Given the description of an element on the screen output the (x, y) to click on. 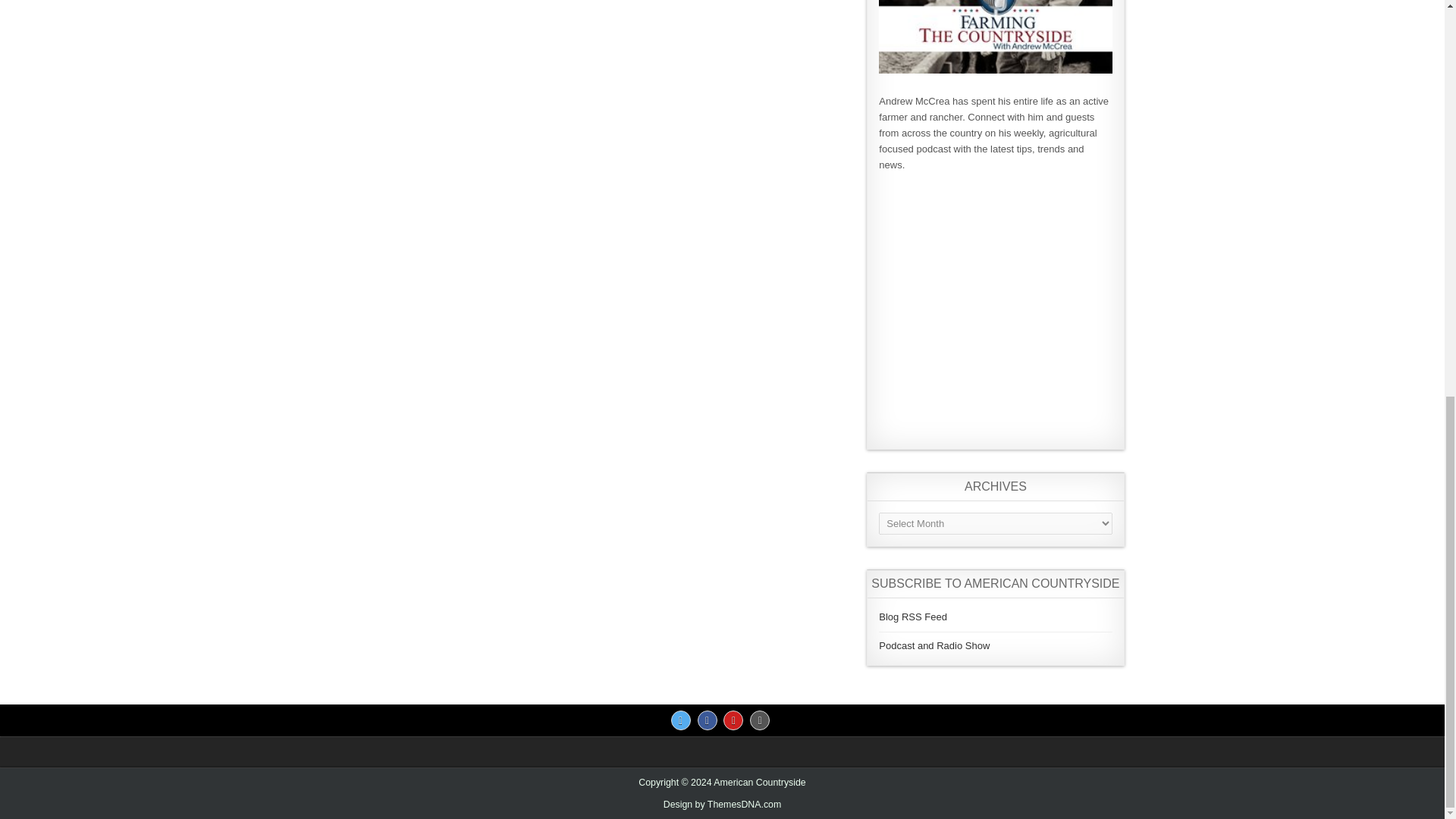
Facebook (707, 720)
Youtube (732, 720)
Blog RSS Feed (913, 616)
Podcast and Radio Show (934, 645)
Twitter (680, 720)
Design by ThemesDNA.com (722, 804)
